Given the description of an element on the screen output the (x, y) to click on. 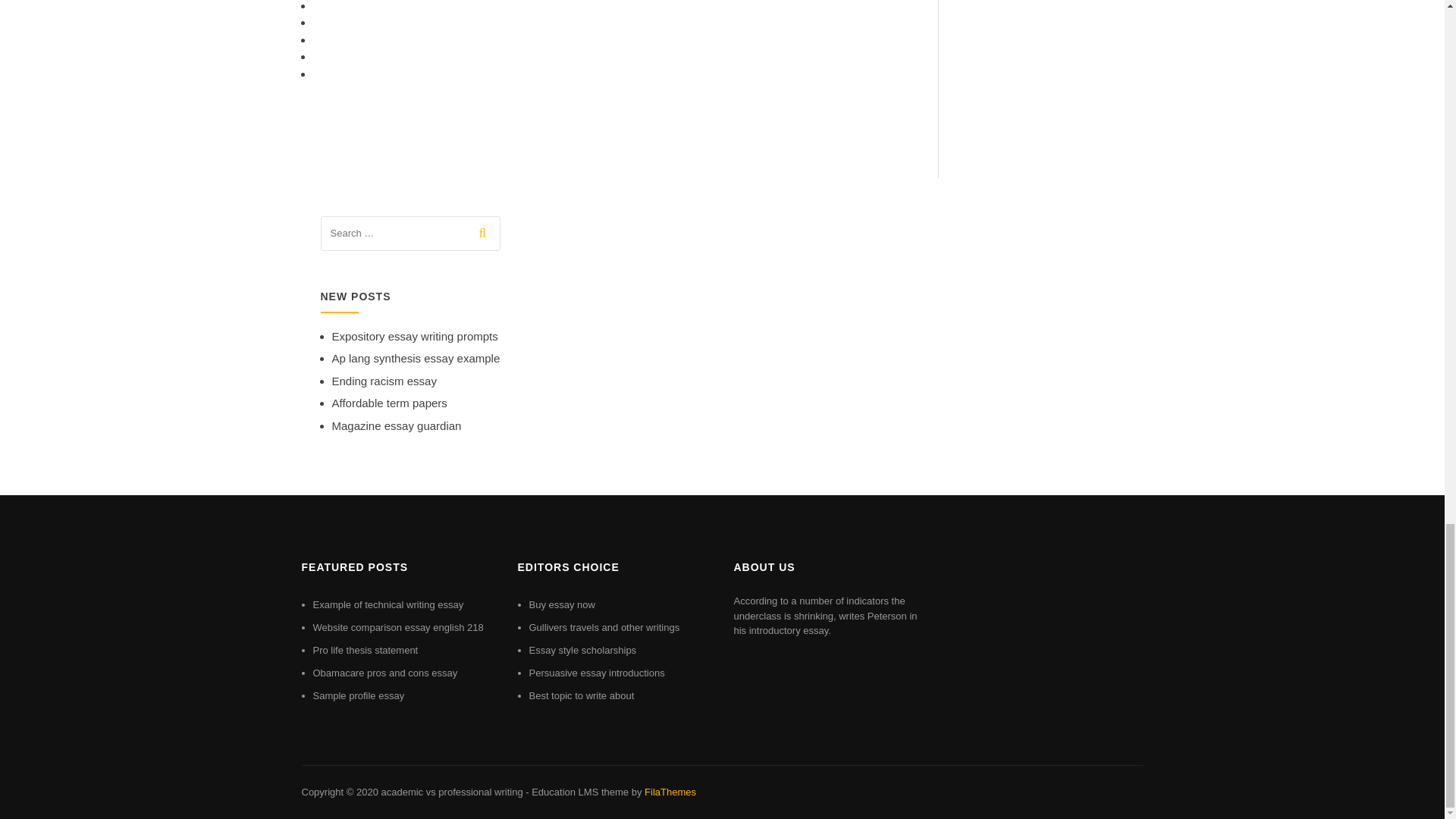
Buy essay now (562, 604)
academic vs professional writing (451, 791)
Affordable term papers (388, 402)
academic vs professional writing (451, 791)
Sample profile essay (358, 695)
Ending racism essay (383, 380)
Essay style scholarships (583, 650)
Ap lang synthesis essay example (415, 358)
Persuasive essay introductions (597, 672)
Pro life thesis statement (365, 650)
Website comparison essay english 218 (398, 627)
Gullivers travels and other writings (604, 627)
Expository essay writing prompts (414, 336)
Example of technical writing essay (388, 604)
Best topic to write about (581, 695)
